Given the description of an element on the screen output the (x, y) to click on. 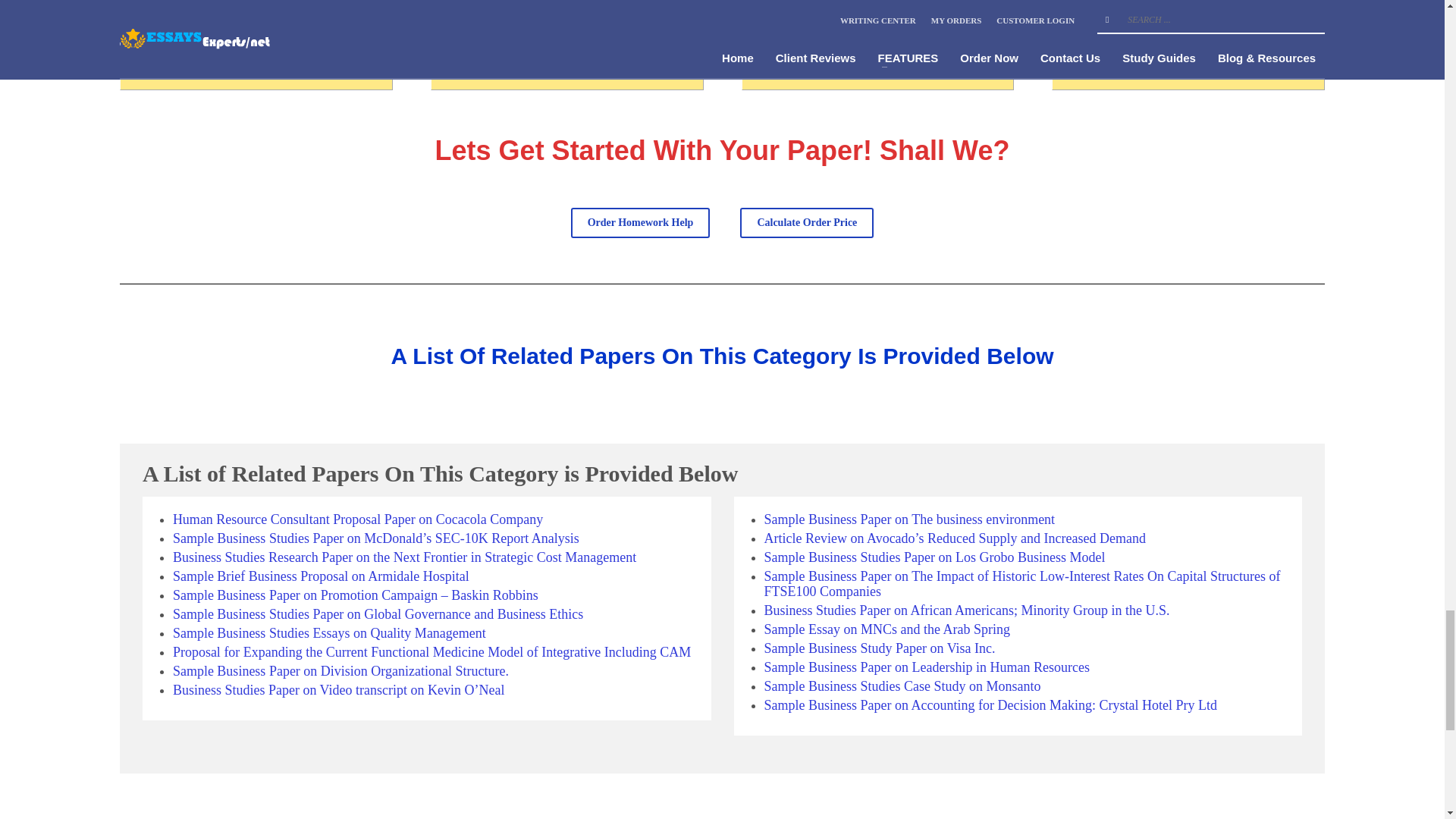
Order Homework Help (640, 223)
Sample Business Studies Essays on Quality Management (329, 632)
Calculate Order Price (806, 223)
Human Resource Consultant Proposal Paper on Cocacola Company (358, 519)
Sample Business Paper on The business environment (909, 519)
Sample Business Paper on Division Organizational Structure. (340, 670)
Sample Brief Business Proposal on Armidale Hospital (320, 575)
